Given the description of an element on the screen output the (x, y) to click on. 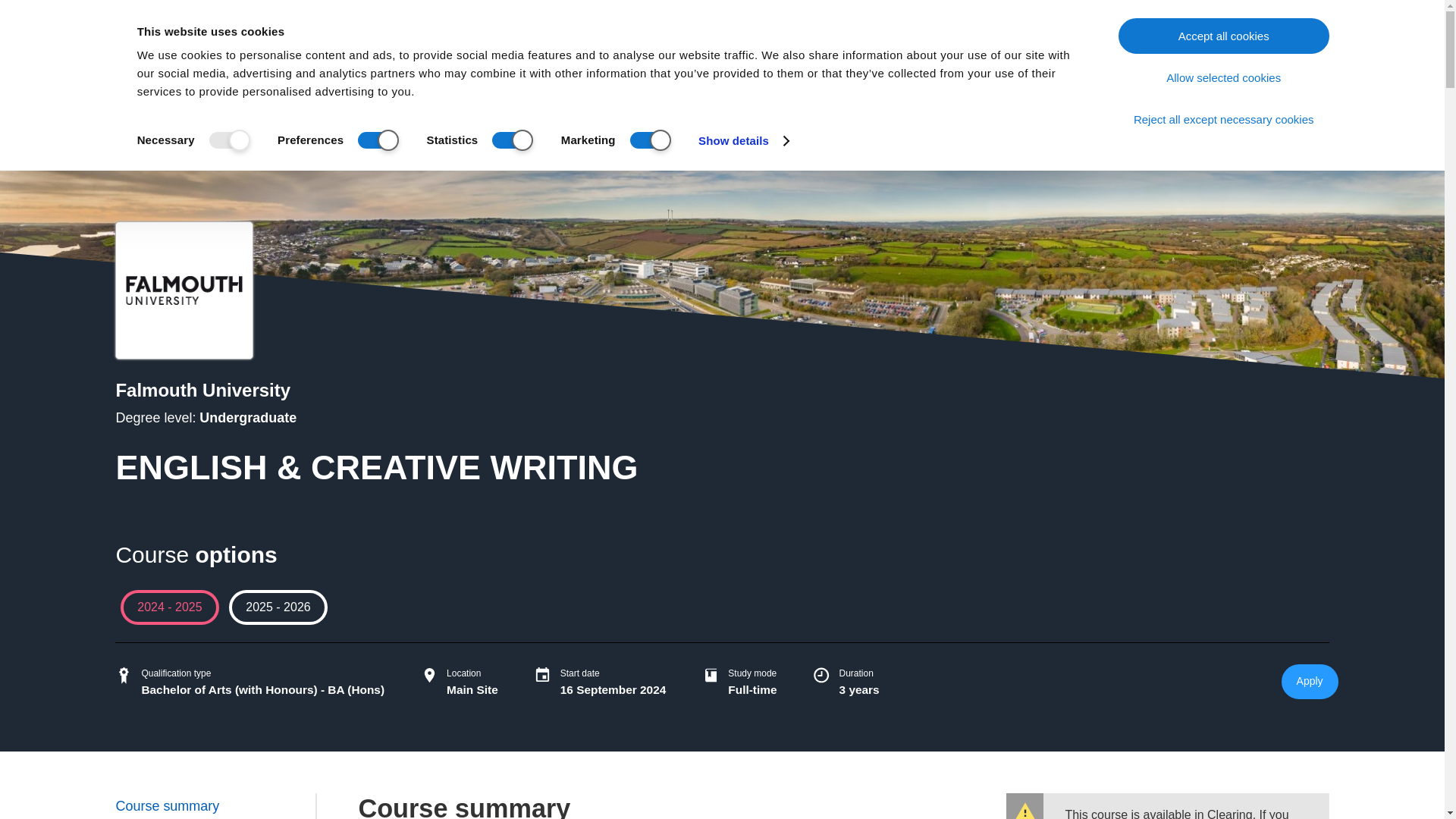
Show details (742, 140)
